Given the description of an element on the screen output the (x, y) to click on. 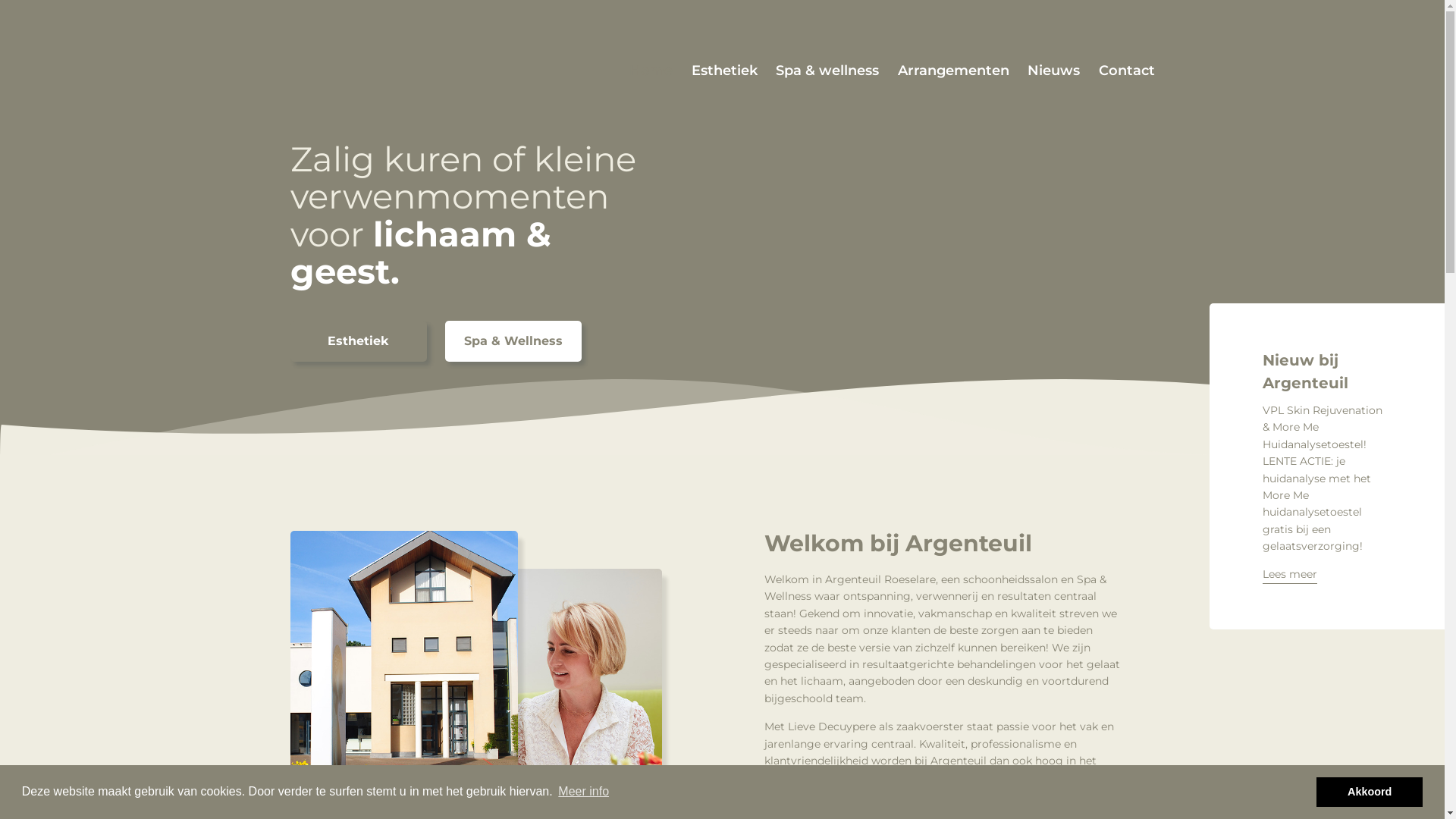
Contact Element type: text (1126, 70)
Home Element type: text (650, 70)
Arrangementen Element type: text (953, 70)
Esthetiek Element type: text (357, 340)
Meer info Element type: text (583, 791)
Spa & wellness Element type: text (826, 70)
Akkoord Element type: text (1369, 791)
Nieuws Element type: text (1053, 70)
Esthetiek Element type: text (724, 70)
Lees meer Element type: text (1289, 574)
Spa & Wellness Element type: text (513, 340)
